Given the description of an element on the screen output the (x, y) to click on. 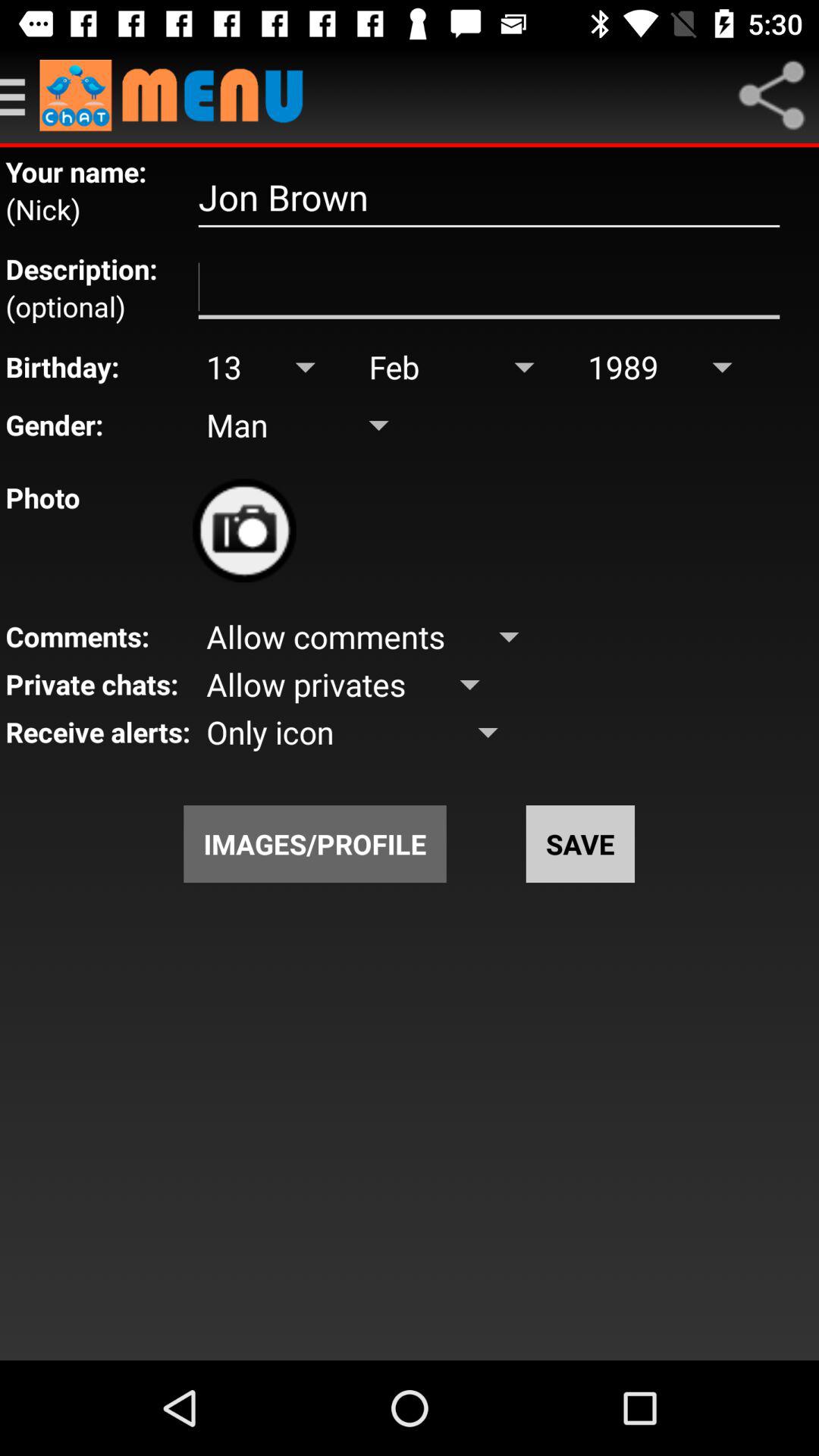
add a picture (244, 530)
